Given the description of an element on the screen output the (x, y) to click on. 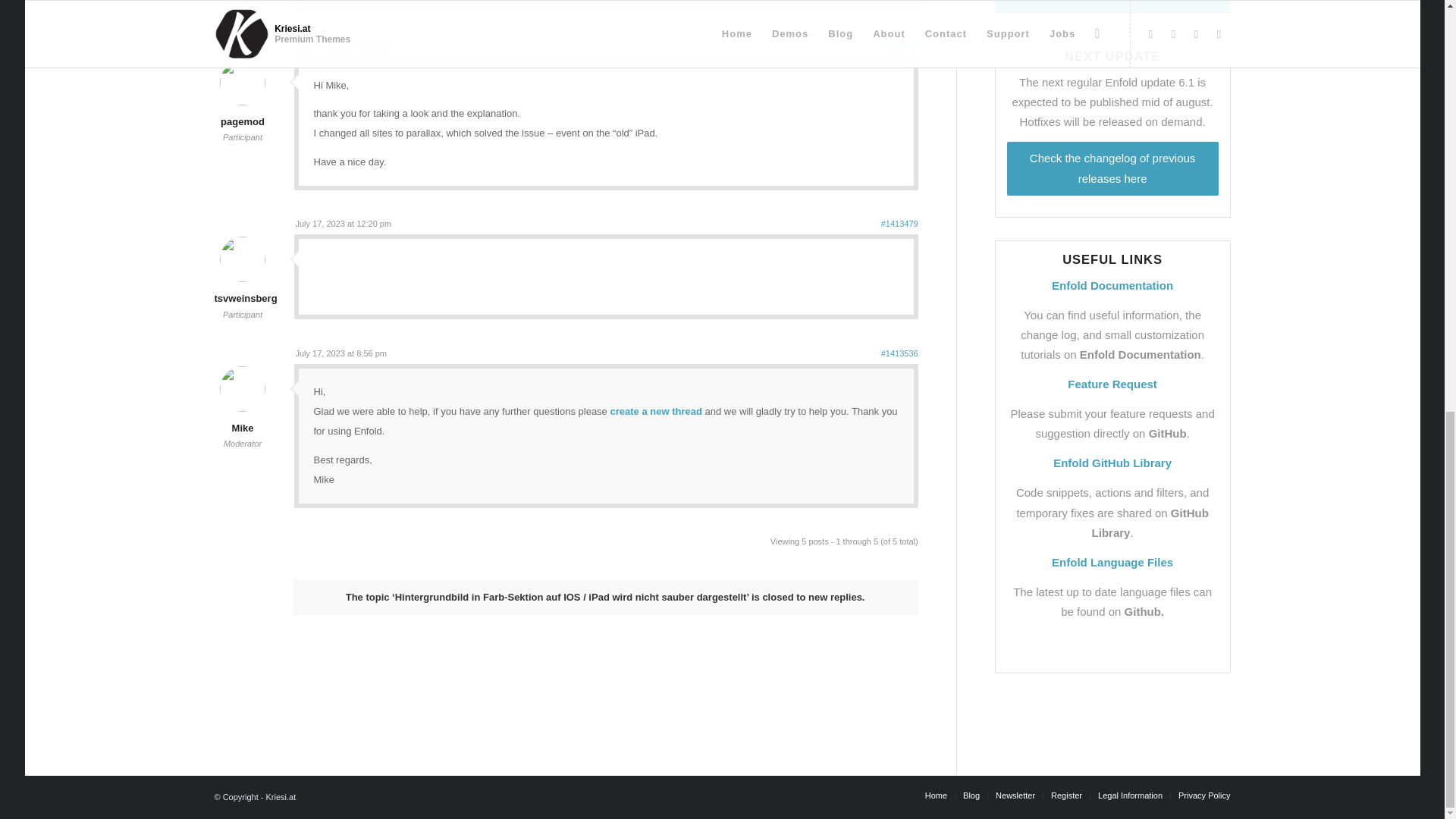
Participant (242, 136)
tsvweinsberg (245, 287)
pagemod (241, 111)
Participant (242, 314)
View tsvweinsberg's profile (245, 287)
View pagemod's profile (241, 111)
Subscribe (1112, 6)
create a new thread (655, 410)
Mike (241, 418)
Moderator (242, 443)
View Mike's profile (241, 418)
